Given the description of an element on the screen output the (x, y) to click on. 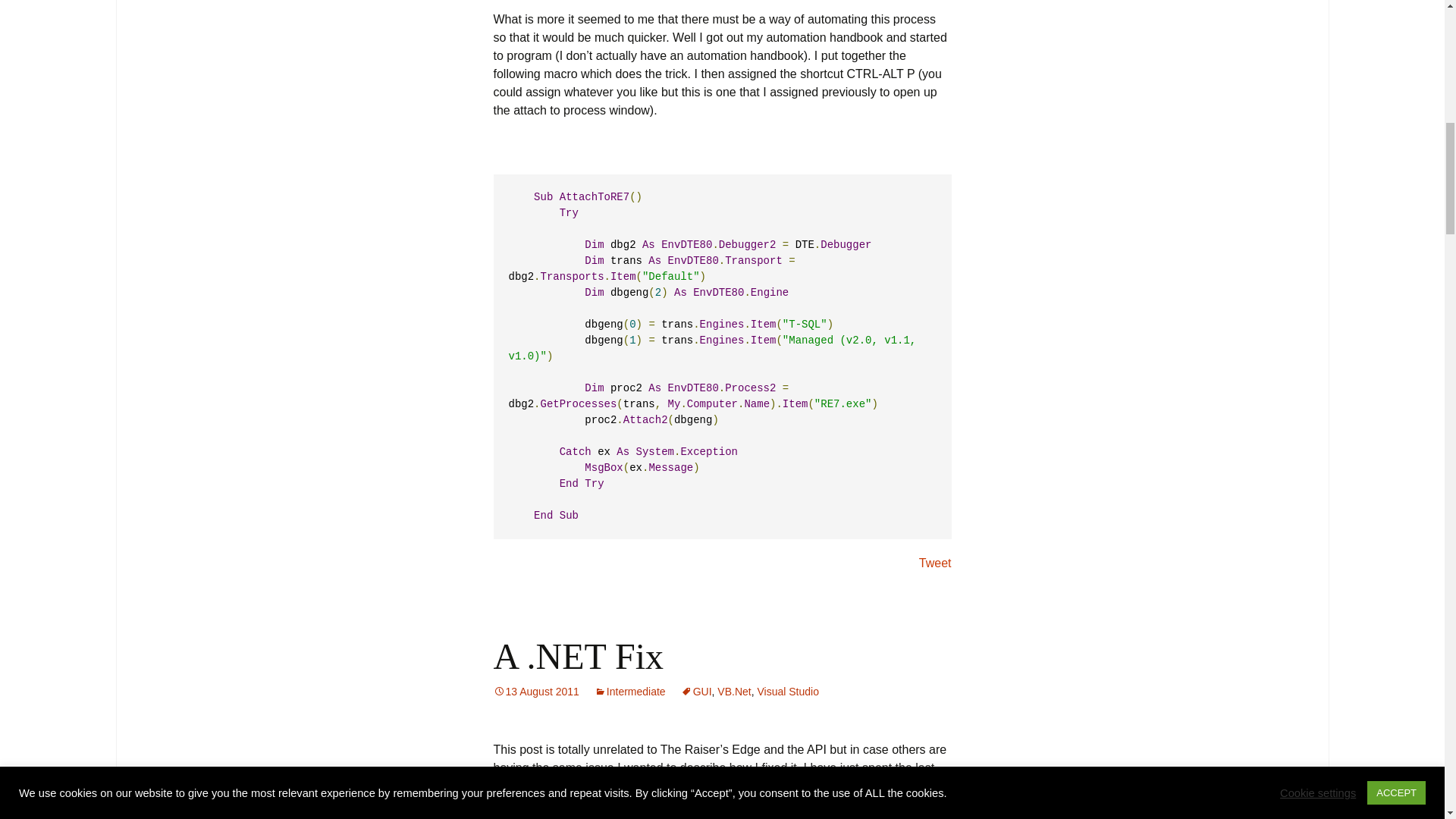
Tweet (935, 562)
13 August 2011 (535, 691)
Visual Studio (787, 691)
Permalink to A .NET Fix (535, 691)
GUI (696, 691)
Intermediate (629, 691)
A .NET Fix (577, 656)
VB.Net (734, 691)
